Given the description of an element on the screen output the (x, y) to click on. 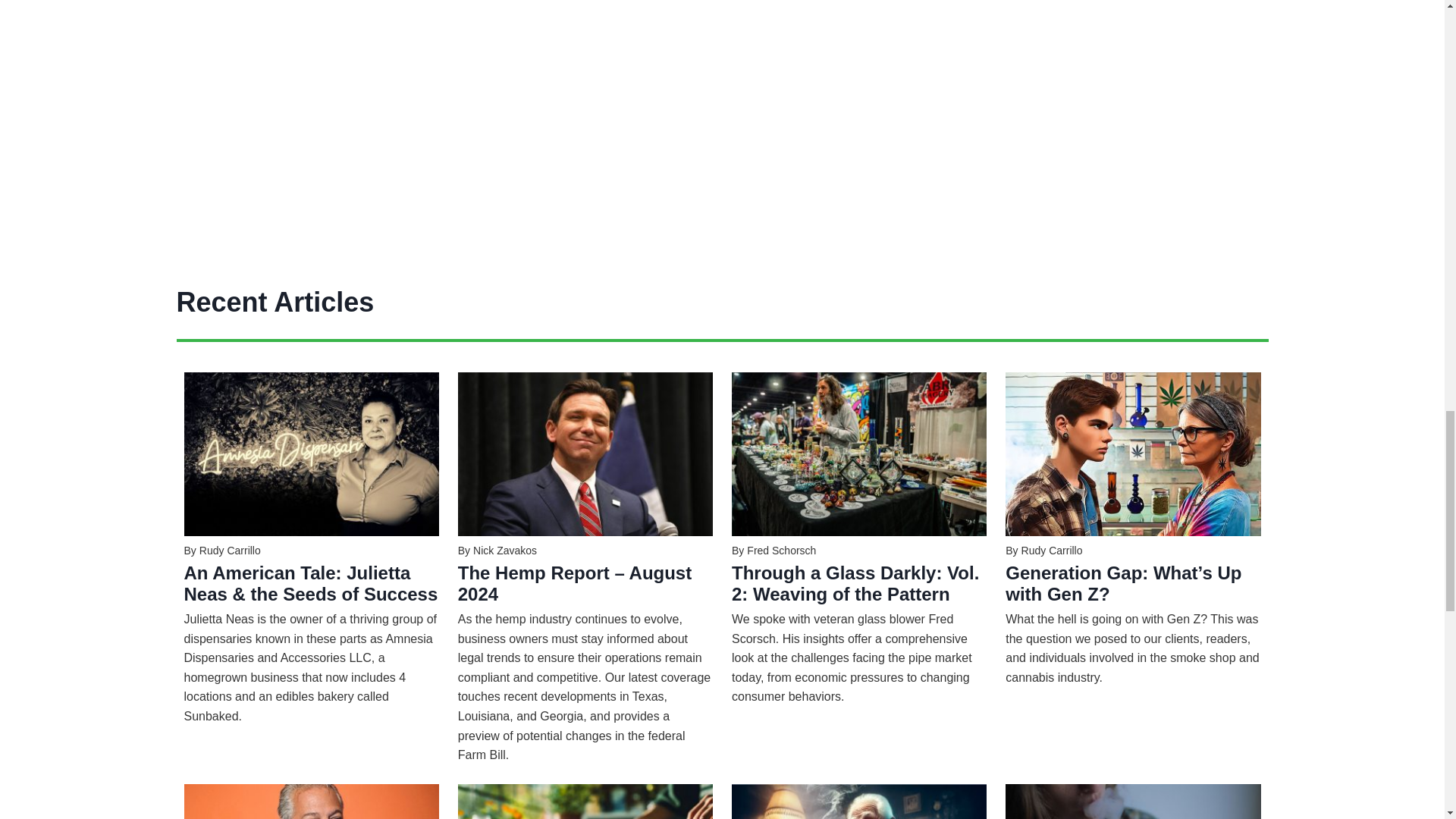
Gramps-Edited (859, 801)
what-is-thca (1133, 801)
Alfred-Viggiani-Cover (310, 801)
Julietta-Neas (310, 454)
Fred-Schorsch-Cover (859, 454)
Gen-Z-2 (1133, 454)
